Given the description of an element on the screen output the (x, y) to click on. 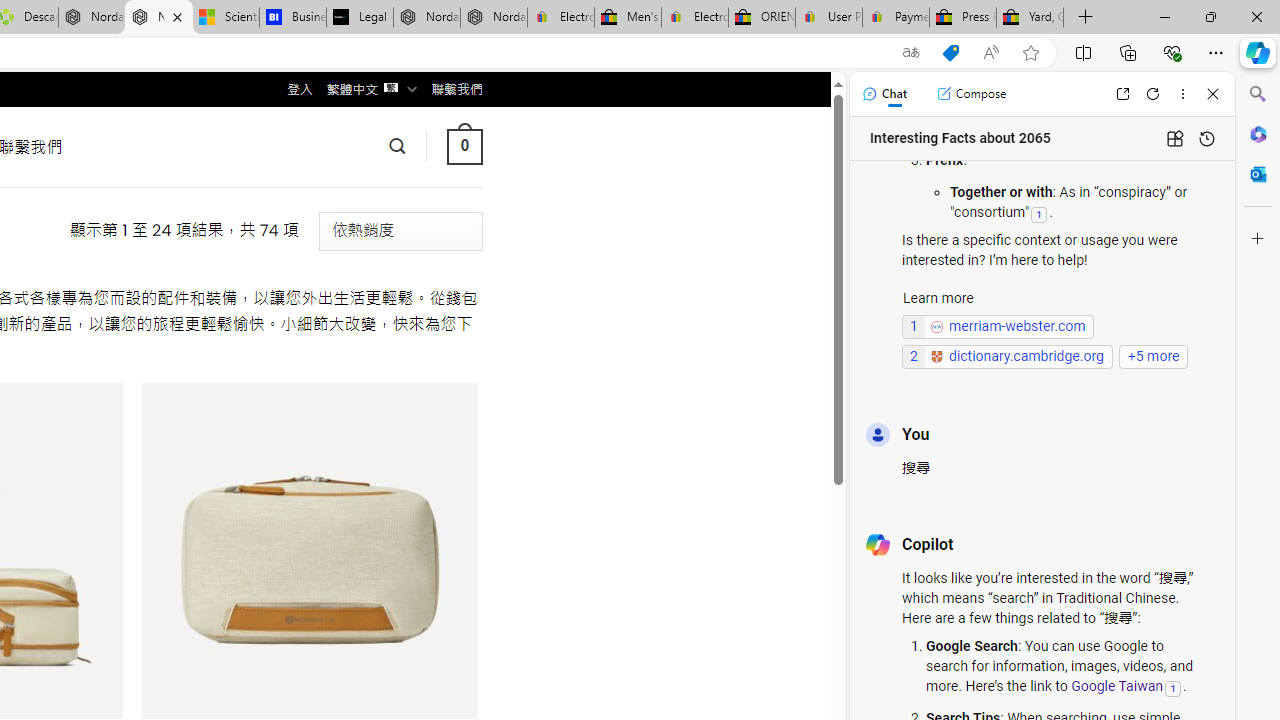
 0  (464, 146)
